Given the description of an element on the screen output the (x, y) to click on. 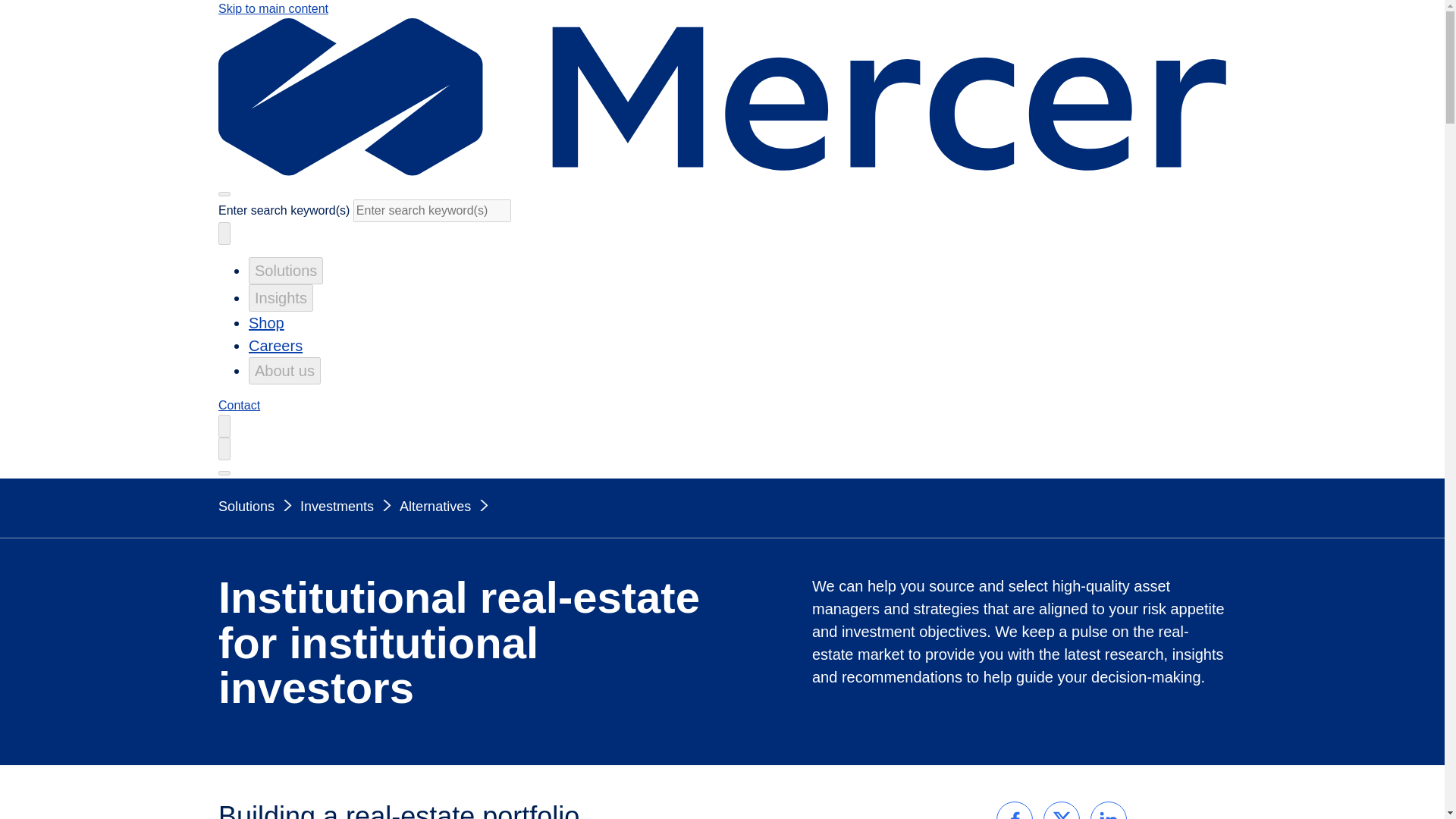
About us (284, 370)
Share on Facebook (1014, 810)
Shop (265, 322)
Share on Twitter (1060, 810)
Skip to main content (273, 8)
Share on Twitter (1060, 810)
Share on Facebook (1014, 810)
Mercer (721, 171)
Contact (239, 404)
Careers (275, 345)
Share on LinkedIn (1107, 810)
Solutions (285, 270)
Insights (280, 298)
Share on LinkedIn (1107, 810)
Investments (348, 506)
